Given the description of an element on the screen output the (x, y) to click on. 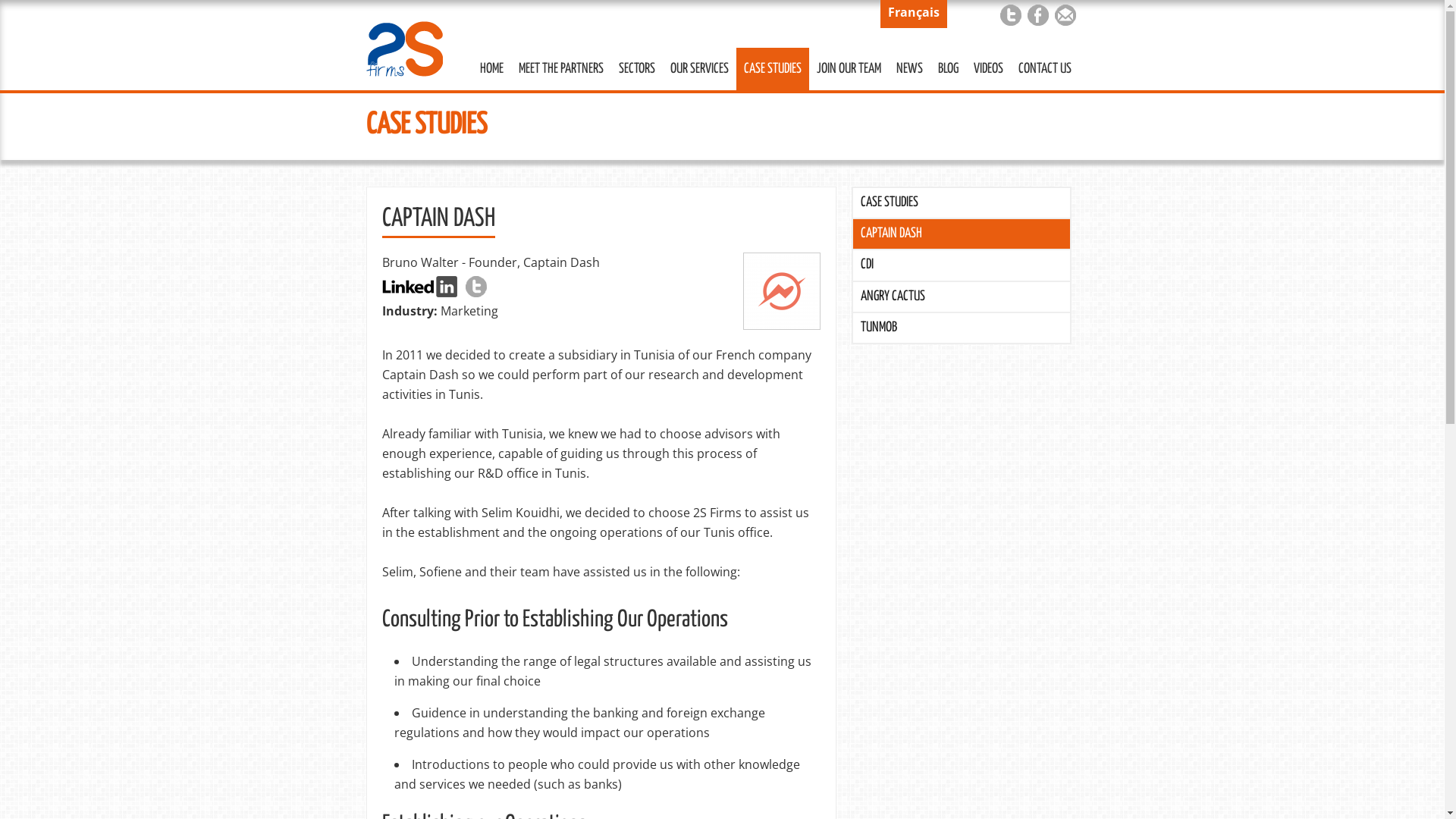
Twitter Element type: text (1009, 14)
TUNMOB Element type: text (961, 327)
CONTACT US Element type: text (1044, 68)
MEET THE PARTNERS Element type: text (561, 68)
Skip to main content Element type: text (689, 1)
NEWS Element type: text (909, 68)
CASE STUDIES Element type: text (425, 125)
HOME Element type: text (490, 68)
ANGRY CACTUS Element type: text (961, 296)
CAPTAIN DASH Element type: text (961, 233)
Mail Element type: text (1064, 14)
JOIN OUR TEAM Element type: text (848, 68)
SECTORS Element type: text (636, 68)
OUR SERVICES Element type: text (699, 68)
VIDEOS Element type: text (988, 68)
Facebook Element type: text (1037, 14)
CDI Element type: text (961, 264)
https://twitter.com/brunowalther Element type: text (475, 286)
CASE STUDIES Element type: text (961, 202)
BLOG Element type: text (947, 68)
CASE STUDIES Element type: text (771, 68)
http://www.linkedin.com/in/brunowalther Element type: text (420, 286)
